Given the description of an element on the screen output the (x, y) to click on. 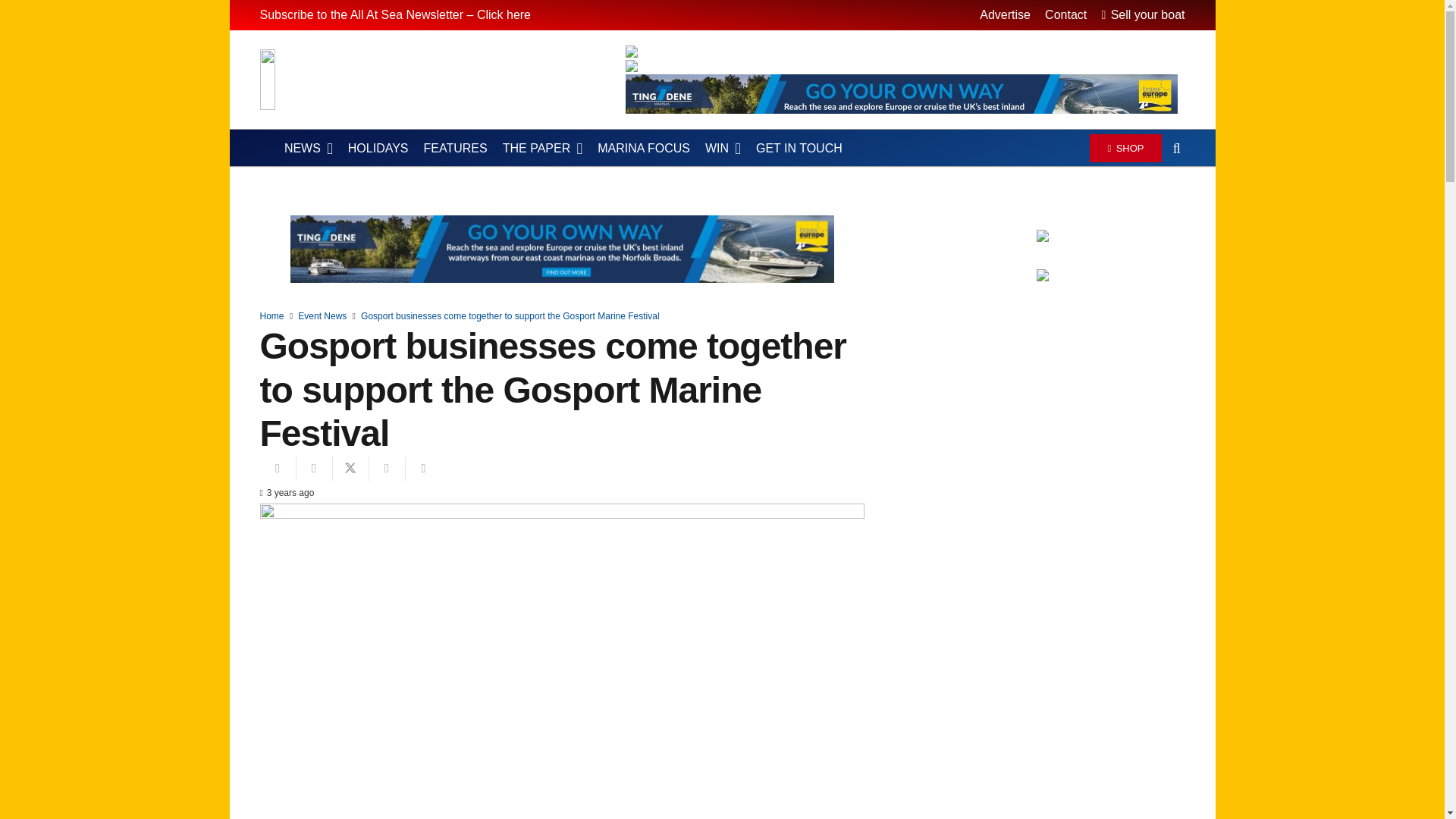
Email this (277, 468)
Advertise (1004, 14)
SHOP (1125, 147)
MARINA FOCUS (643, 148)
HOLIDAYS (378, 148)
Share this (422, 468)
Event News (322, 316)
THE PAPER (542, 148)
GET IN TOUCH (799, 148)
Sell your boat (1142, 14)
Contact (1065, 14)
WIN (722, 148)
FEATURES (455, 148)
Tweet this (349, 468)
Share this (313, 468)
